Given the description of an element on the screen output the (x, y) to click on. 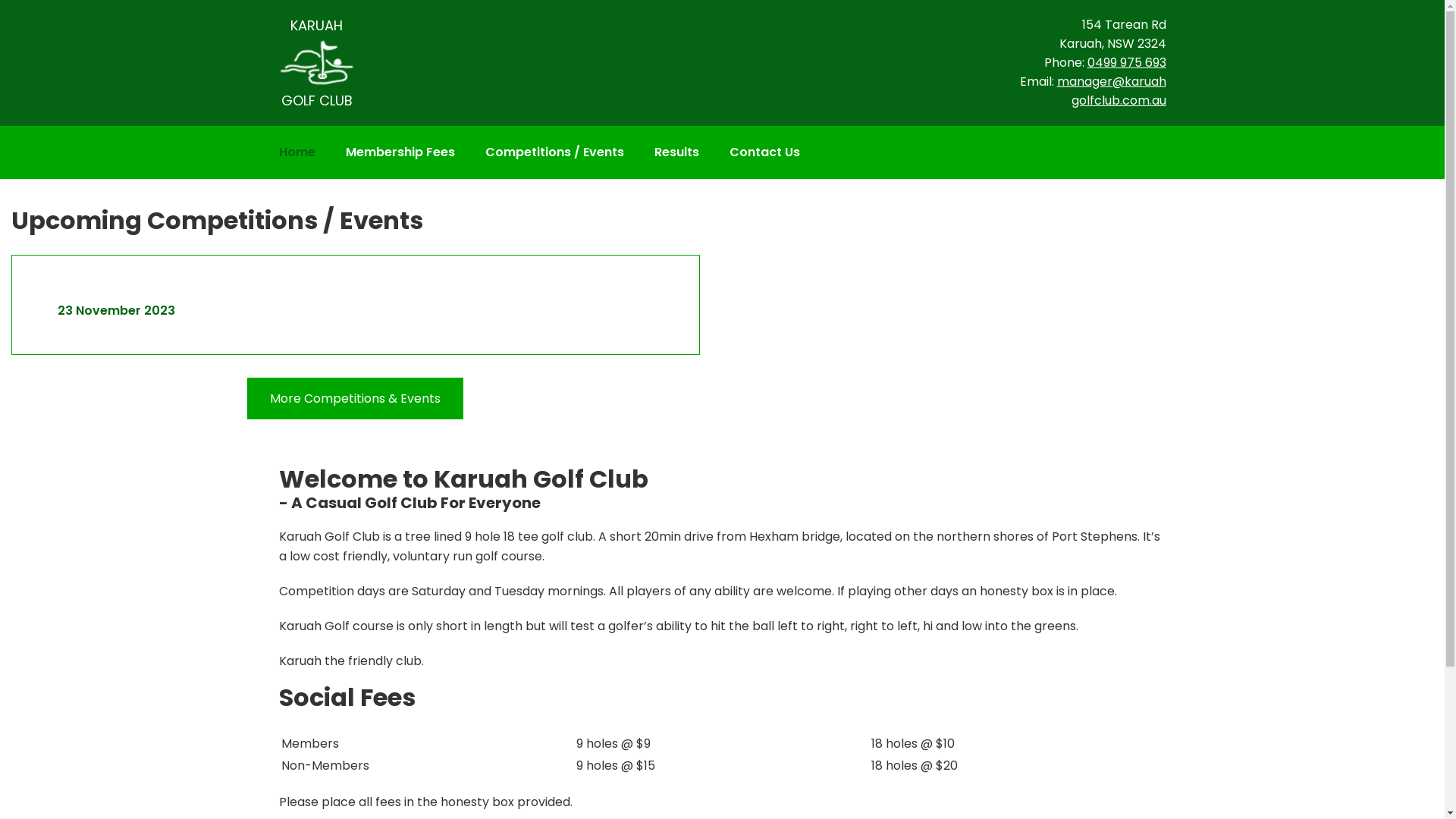
More Competitions & Events Element type: text (355, 398)
Contact Us Element type: text (764, 151)
0499 975 693 Element type: text (1126, 62)
manager@karuah
golfclub.com.au Element type: text (1111, 90)
Membership Fees Element type: text (400, 151)
Competitions / Events Element type: text (554, 151)
Home Element type: text (297, 151)
Results Element type: text (675, 151)
